Given the description of an element on the screen output the (x, y) to click on. 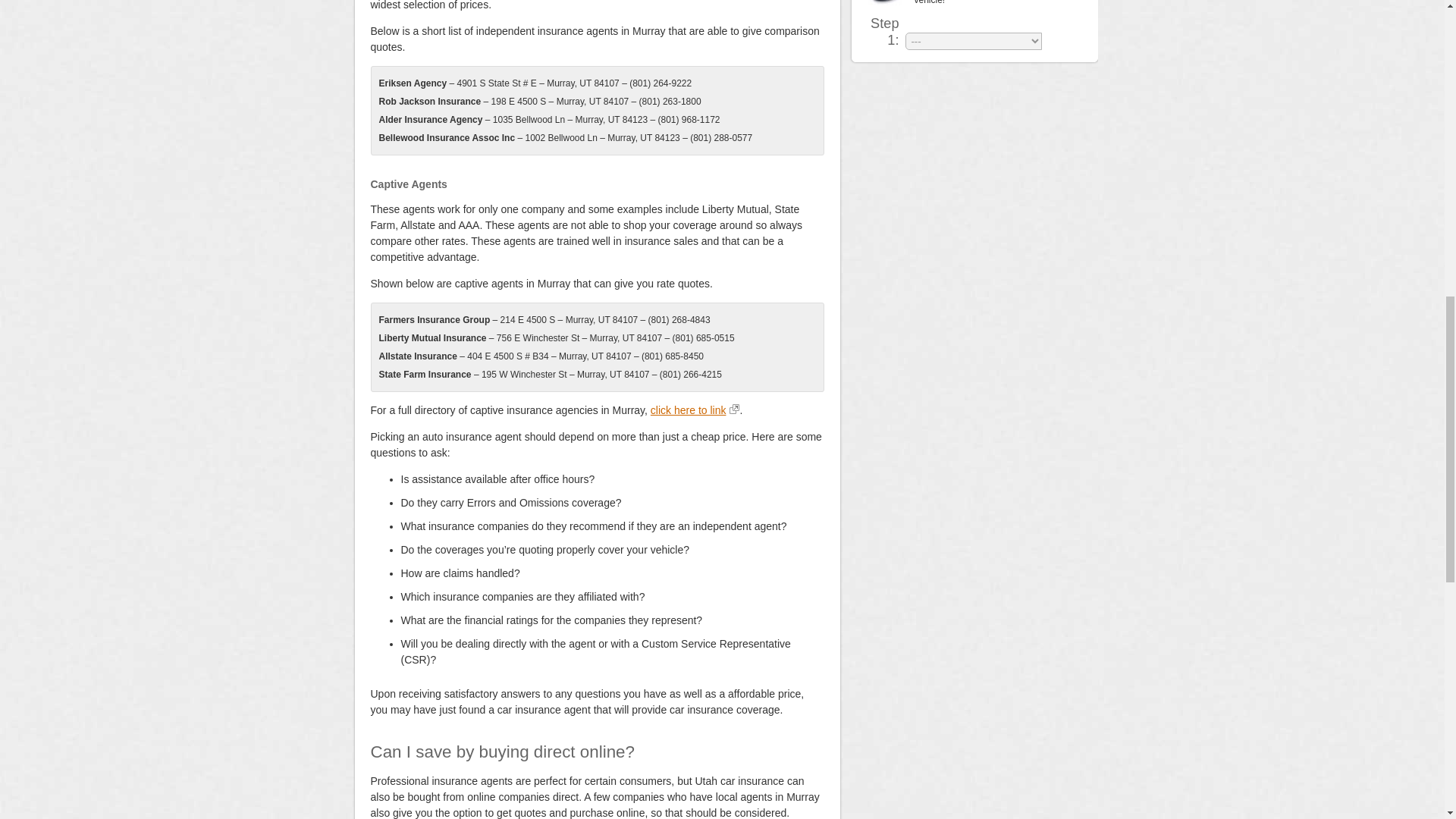
click here to link (694, 410)
